Given the description of an element on the screen output the (x, y) to click on. 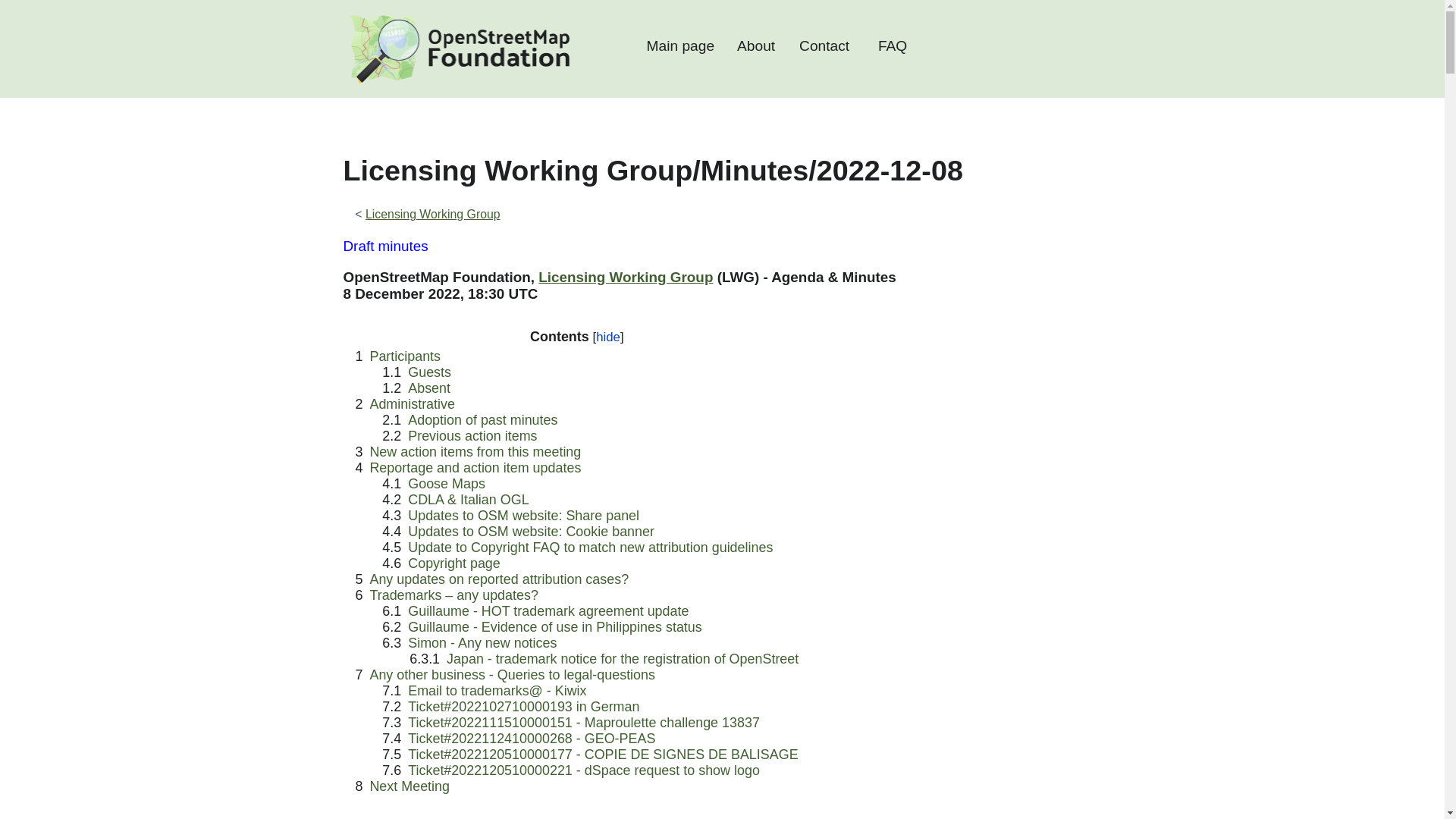
8 Next Meeting (402, 785)
Licensing Working Group (432, 214)
Licensing Working Group (432, 214)
Licensing Working Group (625, 277)
About (756, 48)
6.1 Guillaume - HOT trademark agreement update (534, 611)
4.6 Copyright page (440, 563)
1 Participants (398, 355)
Visit the main page (458, 48)
Main page (680, 48)
4.1 Goose Maps (432, 483)
Licensing Working Group (625, 277)
2.2 Previous action items (459, 435)
4.4 Updates to OSM website: Cookie banner (517, 531)
